Given the description of an element on the screen output the (x, y) to click on. 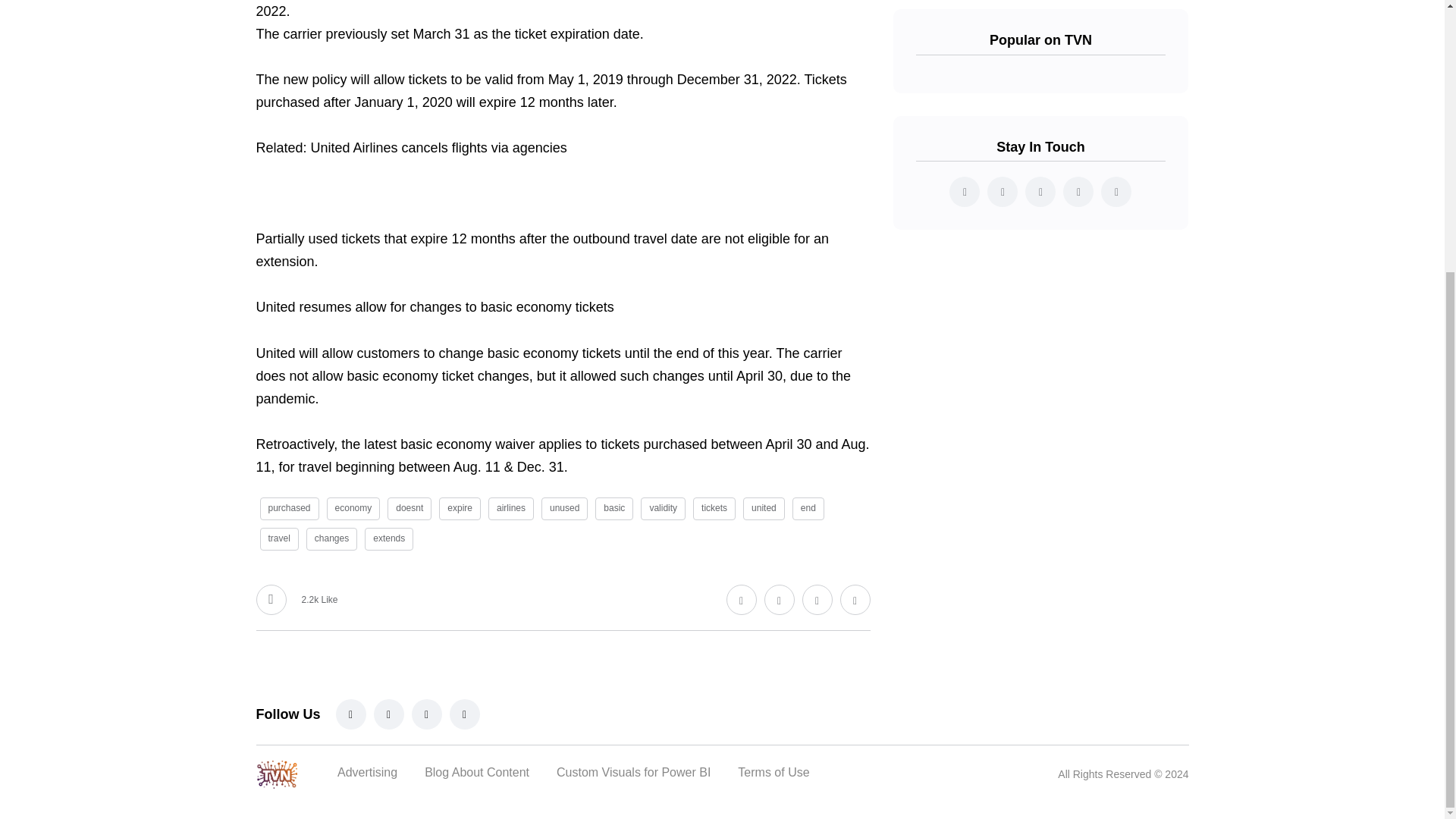
end (808, 508)
unused (564, 508)
purchased (288, 508)
airlines (510, 508)
expire (459, 508)
changes (330, 538)
tickets (714, 508)
extends (389, 538)
doesnt (408, 508)
united (763, 508)
